Given the description of an element on the screen output the (x, y) to click on. 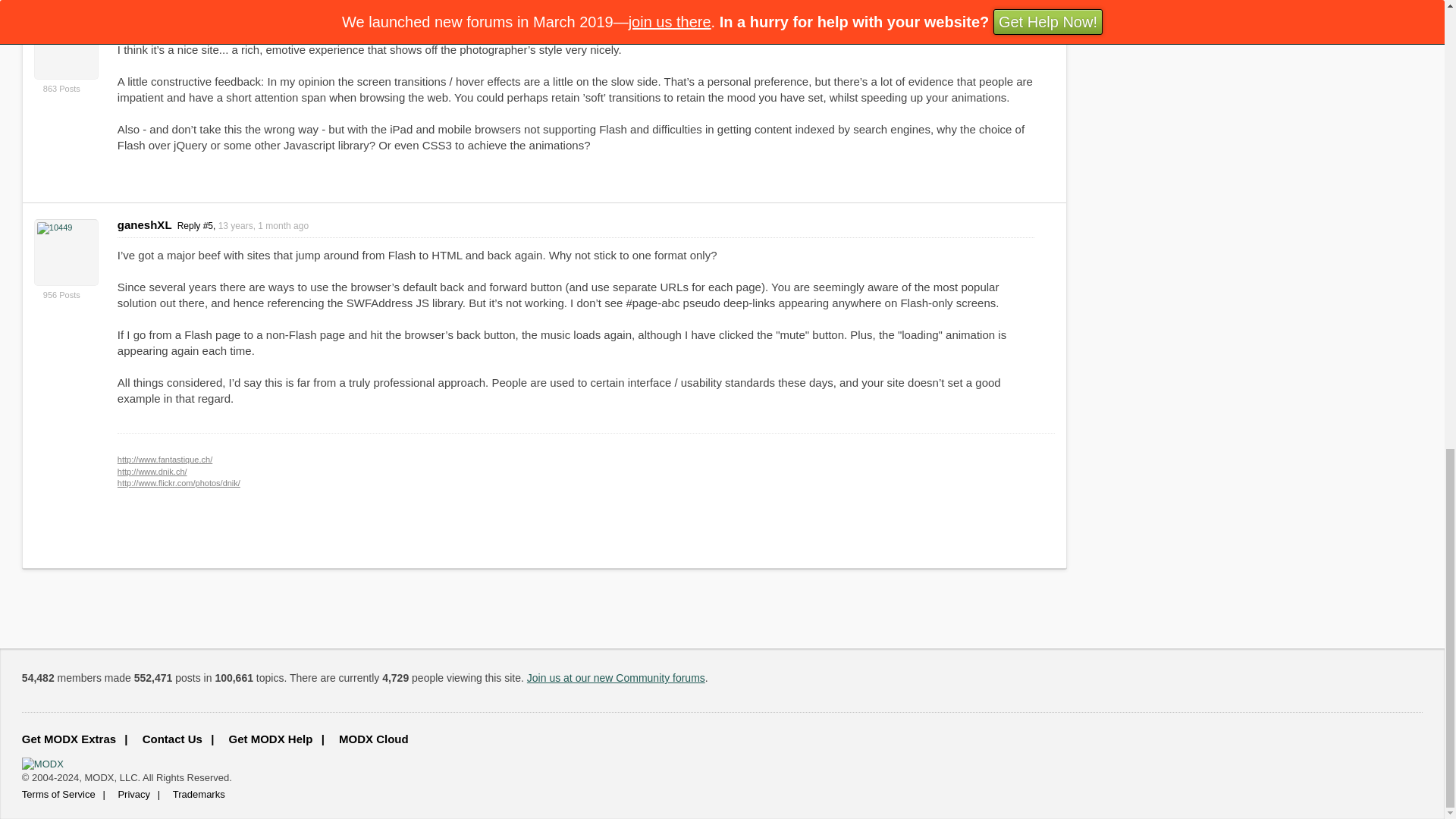
Link to this Post (220, 19)
View Author Profile (66, 46)
View Author Profile (66, 252)
Link to this Post (242, 225)
Jun 11, 2011, 05:33 AM (241, 19)
Join us at our new Community forums (615, 677)
